Given the description of an element on the screen output the (x, y) to click on. 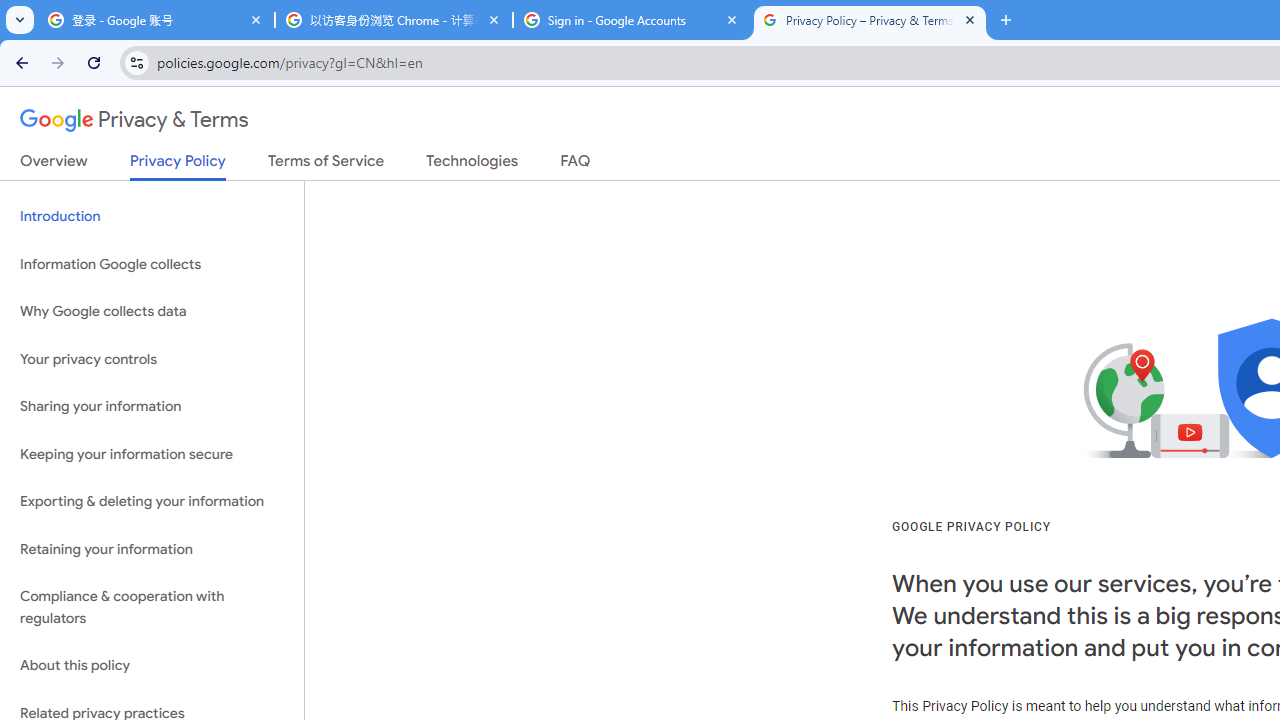
Privacy Policy (177, 166)
Keeping your information secure (152, 453)
FAQ (575, 165)
Overview (54, 165)
Exporting & deleting your information (152, 502)
Retaining your information (152, 548)
Technologies (472, 165)
Sharing your information (152, 407)
Compliance & cooperation with regulators (152, 607)
